Given the description of an element on the screen output the (x, y) to click on. 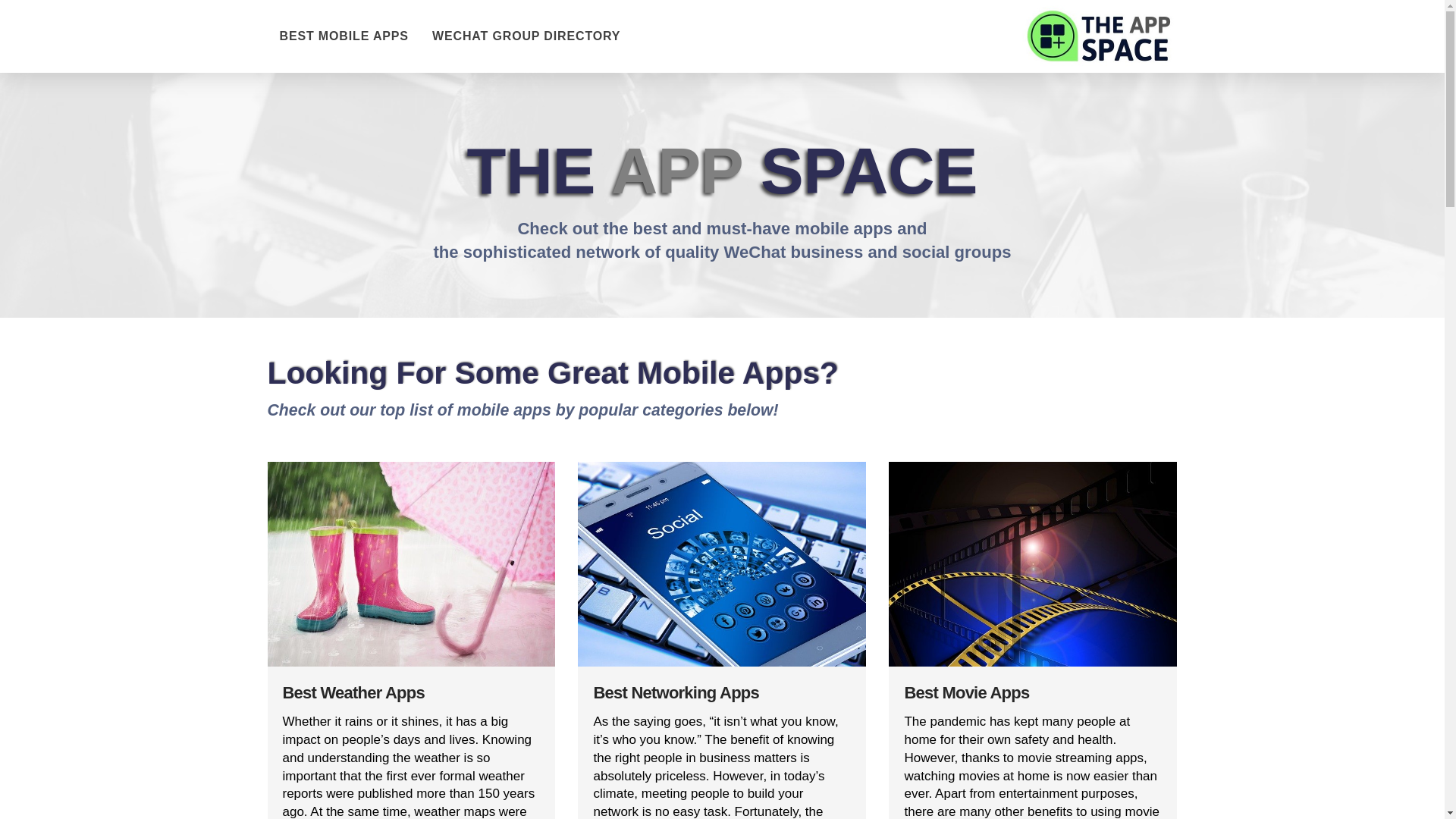
Best Weather Apps (352, 692)
Best Movie Apps (966, 692)
BEST MOBILE APPS (343, 36)
Best Networking Apps (675, 692)
WECHAT GROUP DIRECTORY (525, 36)
